Given the description of an element on the screen output the (x, y) to click on. 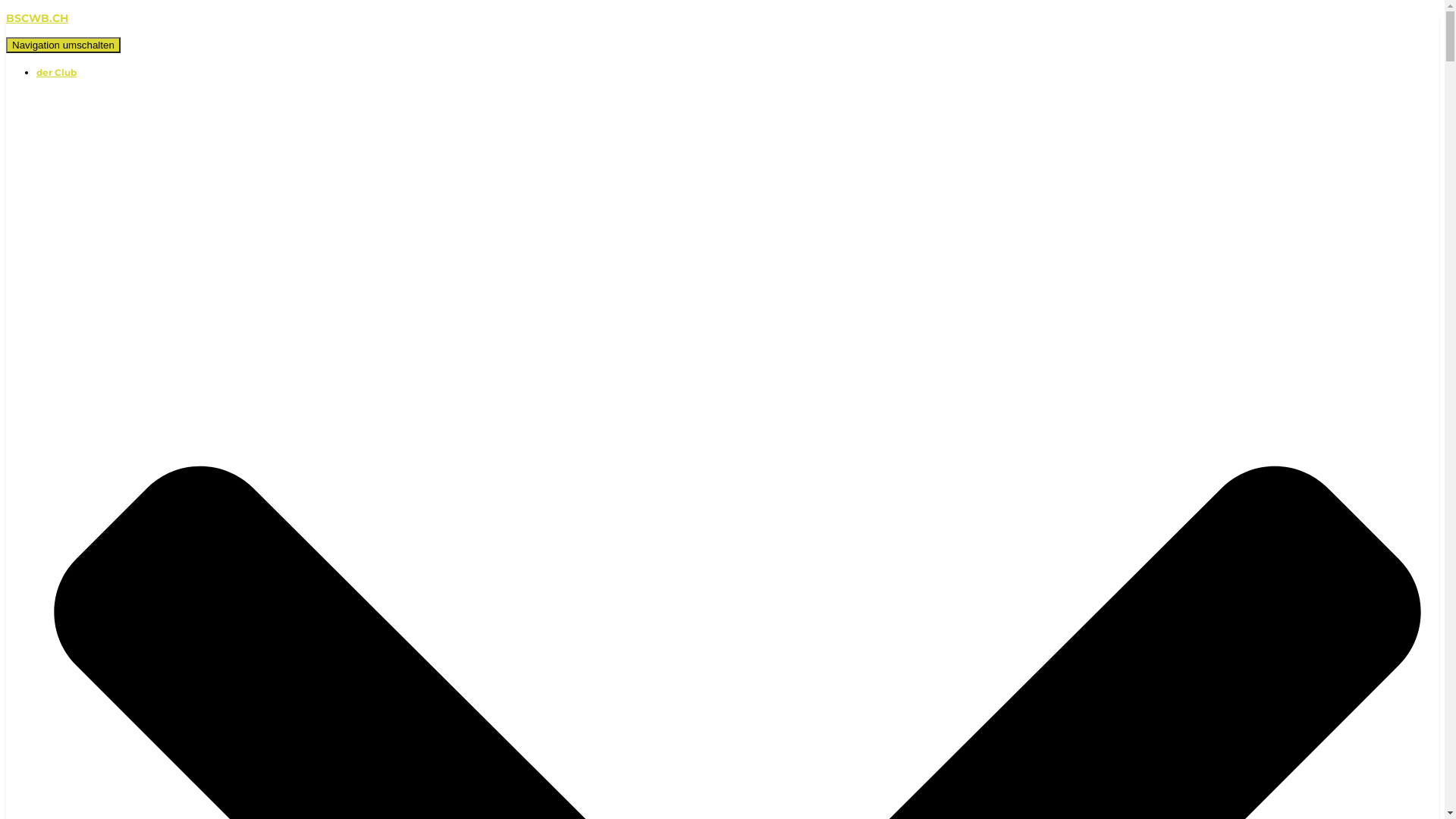
BSCWB.CH Element type: text (722, 18)
Navigation umschalten Element type: text (63, 45)
